Given the description of an element on the screen output the (x, y) to click on. 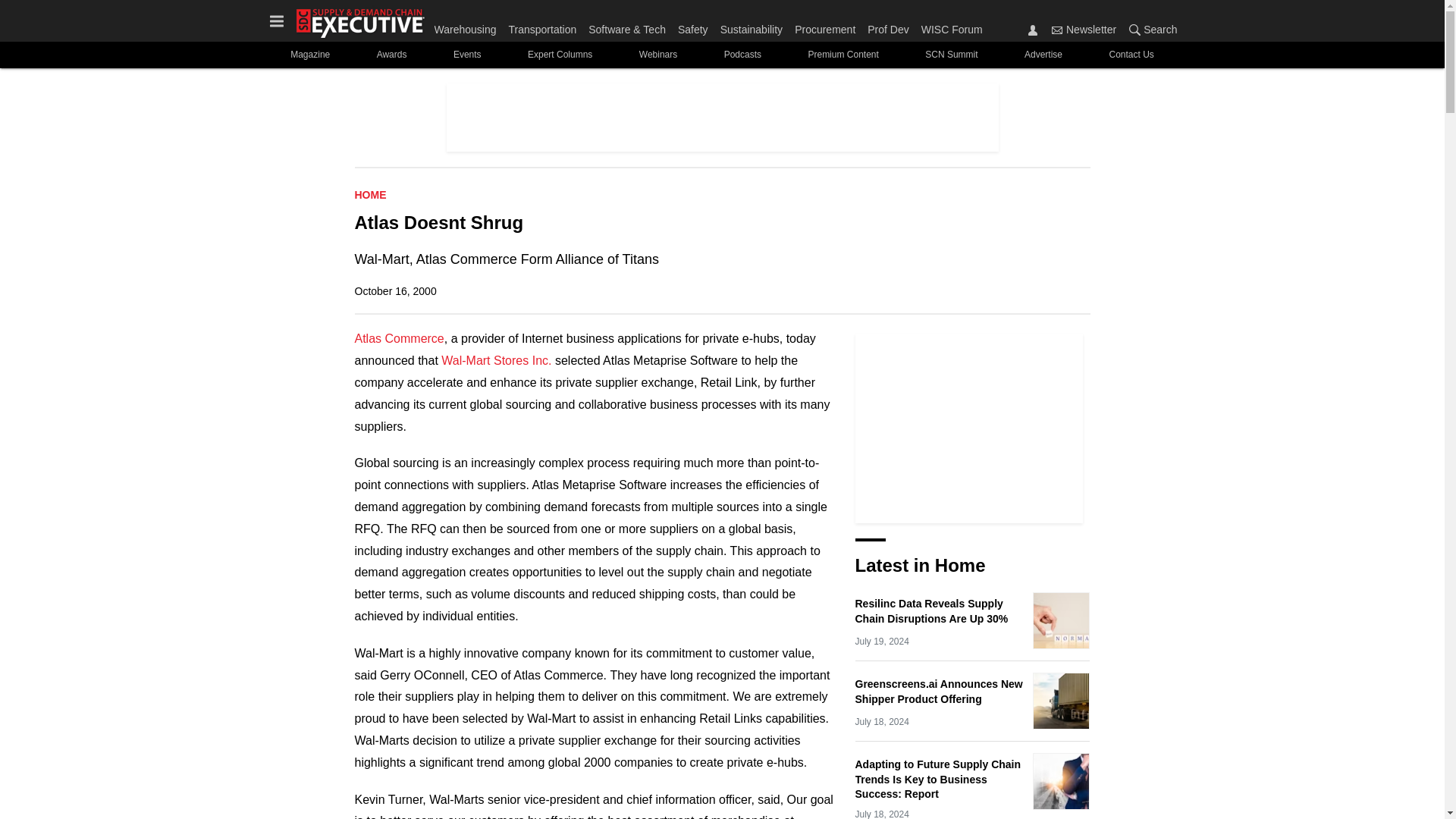
Webinars (657, 54)
Safety (692, 26)
Events (466, 54)
Search (1134, 29)
Sign In (1032, 29)
Prof Dev (887, 26)
3rd party ad content (969, 428)
Transportation (542, 26)
WISC Forum (948, 26)
Sustainability (751, 26)
Warehousing (467, 26)
Home (371, 194)
Procurement (825, 26)
Newsletter (1083, 29)
Search (1149, 29)
